Given the description of an element on the screen output the (x, y) to click on. 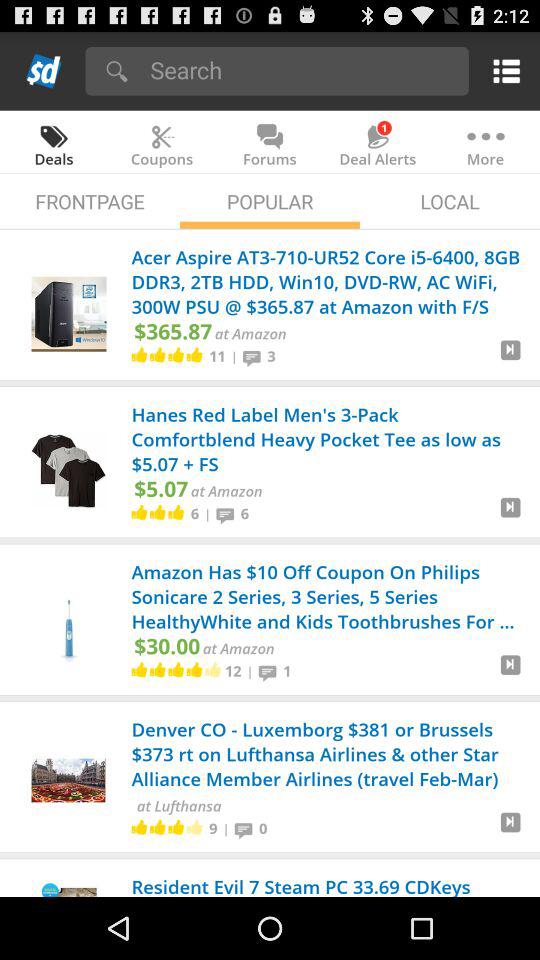
turn on the icon above the more icon (502, 70)
